Given the description of an element on the screen output the (x, y) to click on. 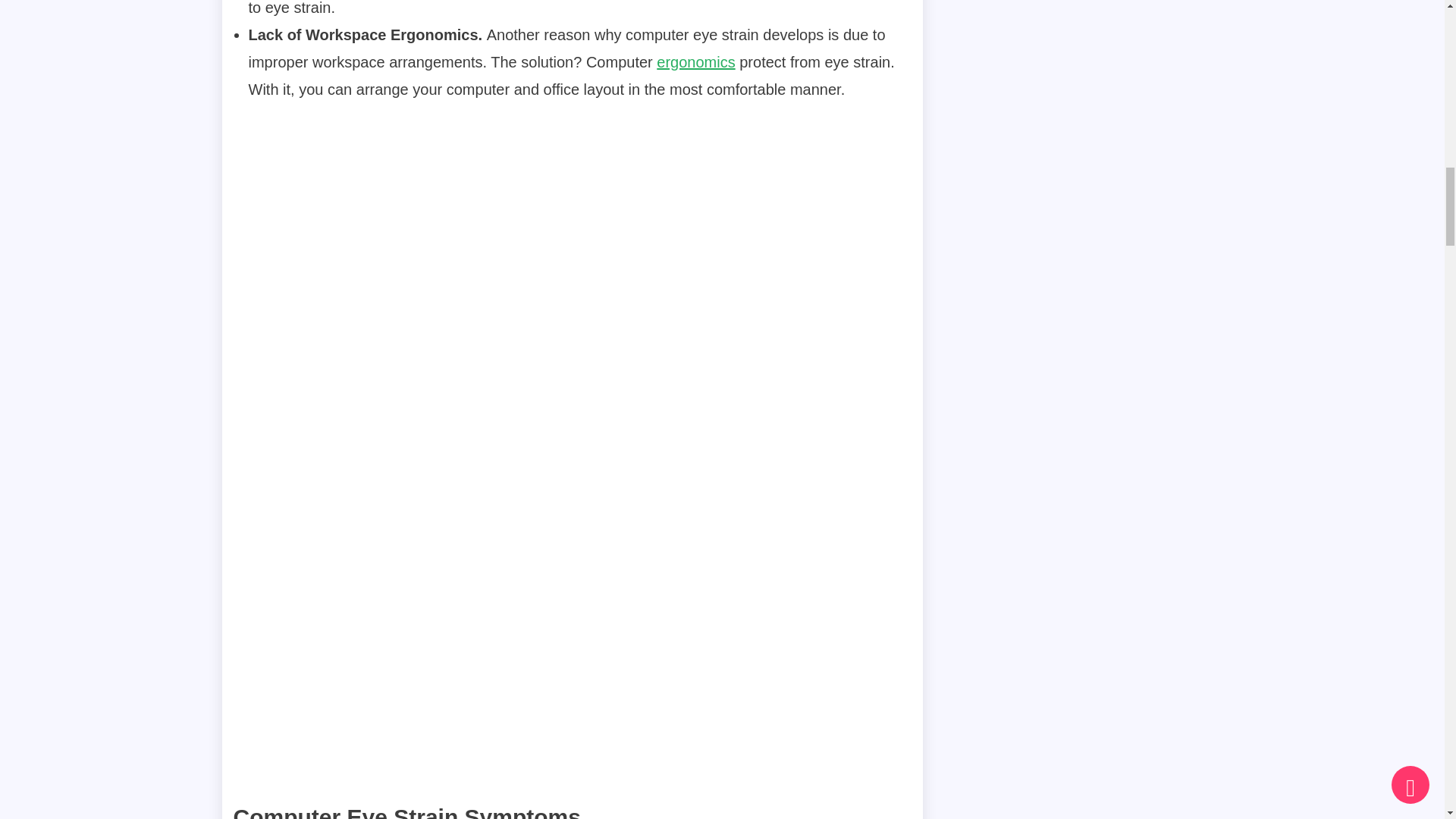
ergonomics (695, 62)
